Given the description of an element on the screen output the (x, y) to click on. 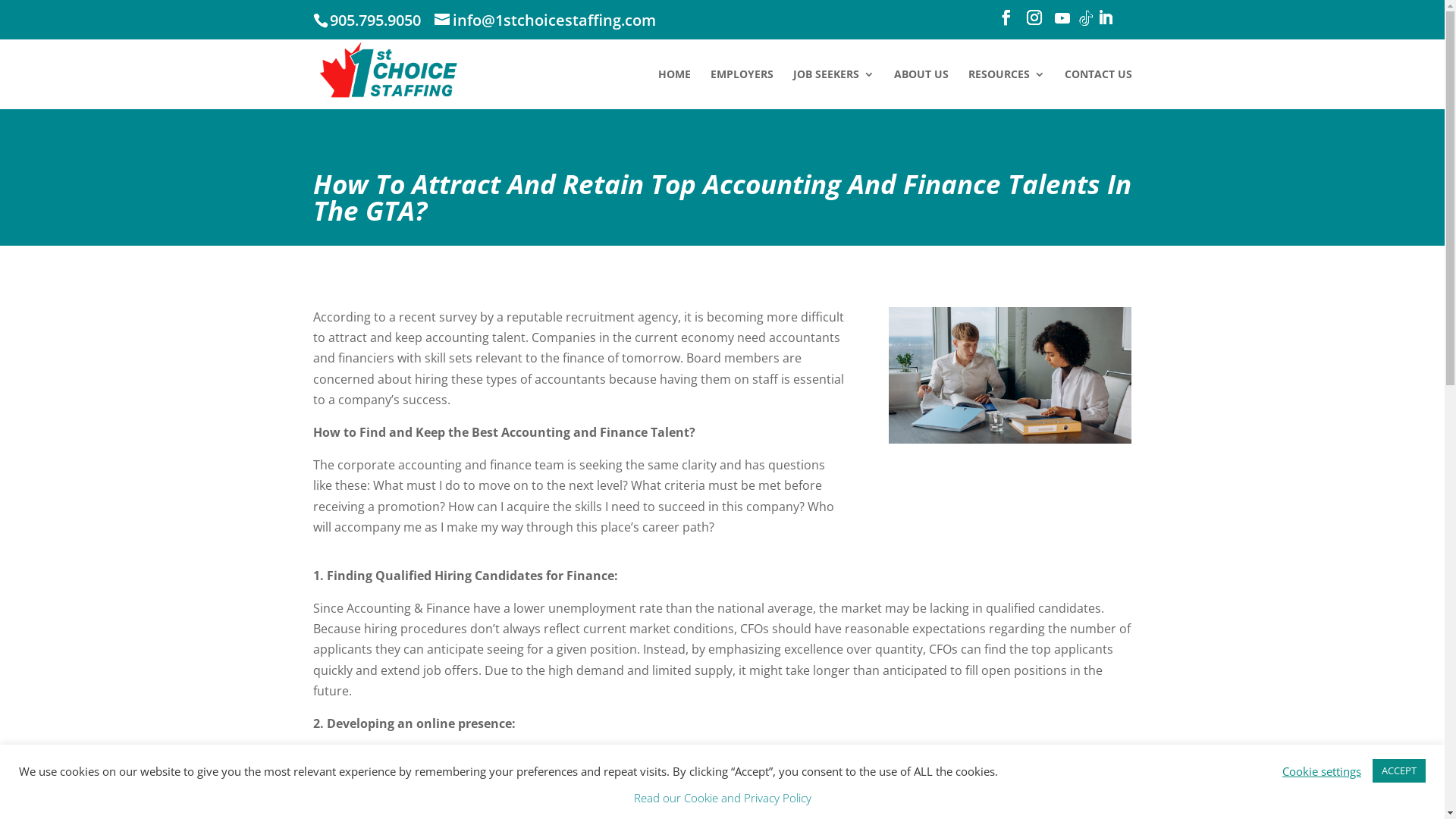
ACCEPT Element type: text (1398, 770)
905.795.9050 Element type: text (372, 19)
CONTACT US Element type: text (1098, 89)
RESOURCES Element type: text (1005, 89)
HOME Element type: text (674, 89)
Read our Cookie and Privacy Policy Element type: text (722, 797)
Cookie settings Element type: text (1321, 771)
1st Element type: hover (1009, 375)
ABOUT US Element type: text (920, 89)
JOB SEEKERS Element type: text (833, 89)
info@1stchoicestaffing.com Element type: text (544, 19)
EMPLOYERS Element type: text (740, 89)
